Given the description of an element on the screen output the (x, y) to click on. 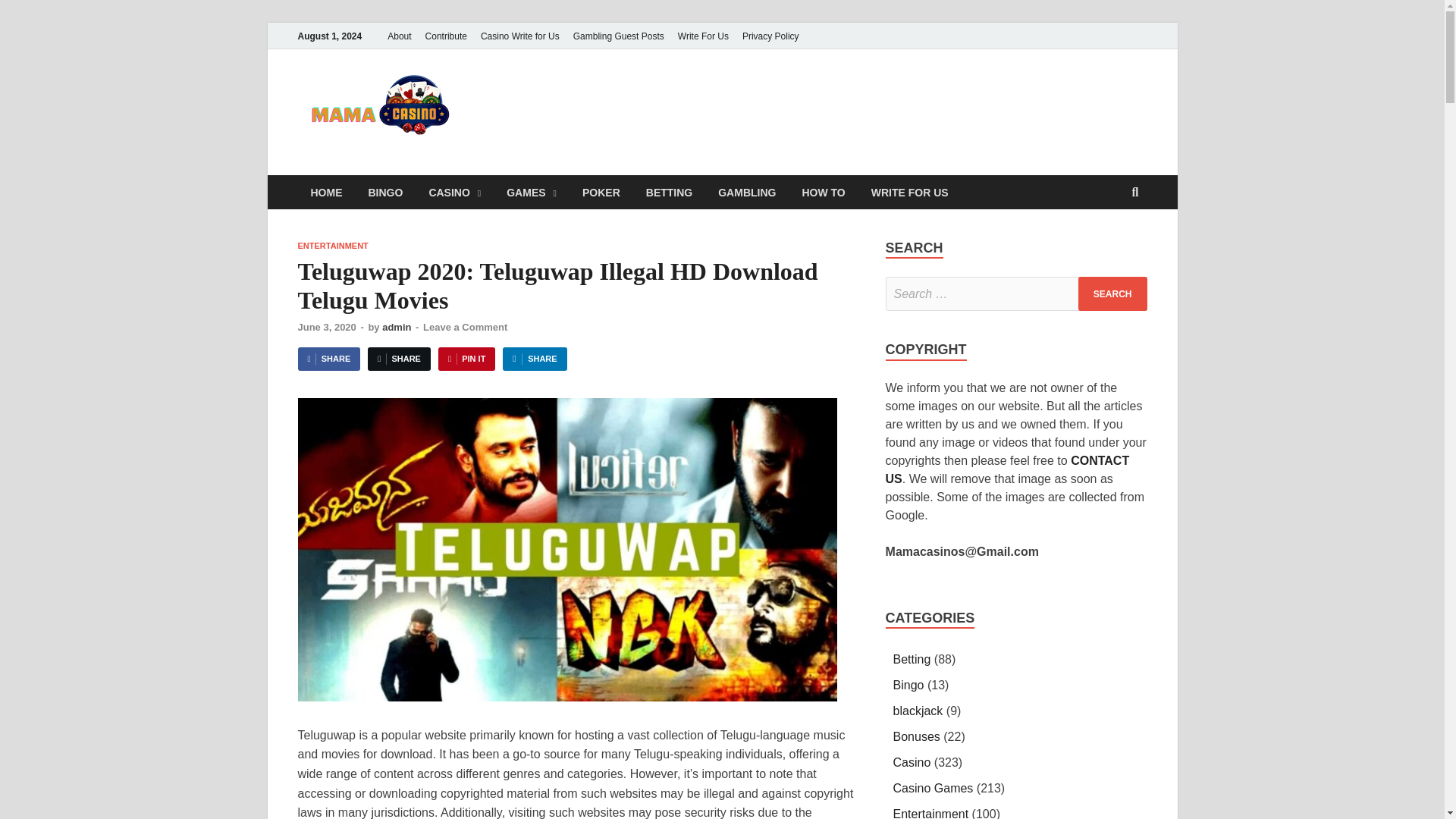
POKER (601, 192)
SHARE (534, 359)
Write For Us (703, 35)
Leave a Comment (464, 326)
BINGO (384, 192)
GAMBLING (746, 192)
Mama Casinos: (615, 100)
GAMES (531, 192)
PIN IT (466, 359)
CASINO (453, 192)
